Given the description of an element on the screen output the (x, y) to click on. 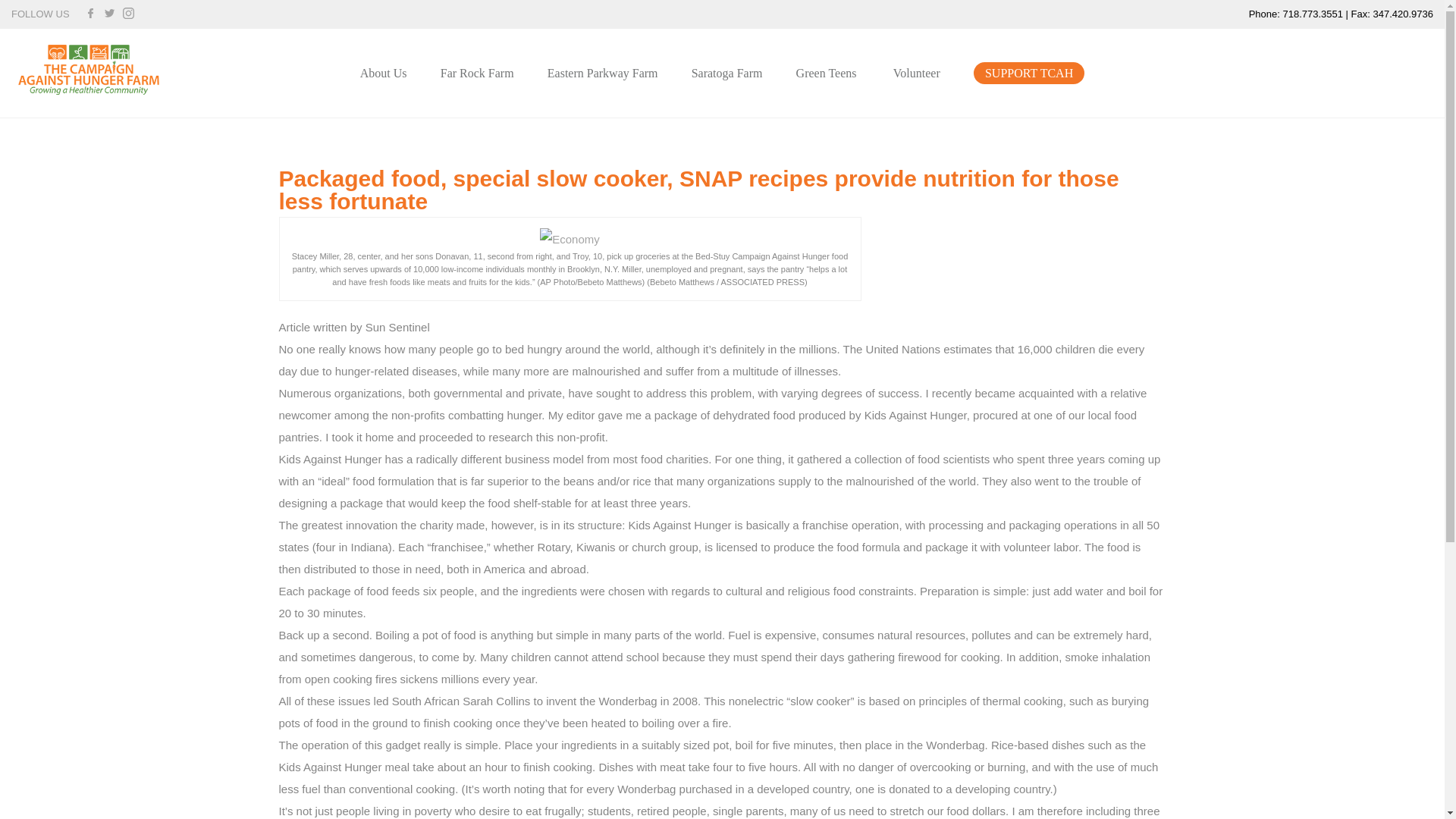
Far Rock Farm (477, 72)
Volunteer (916, 72)
Economy (569, 239)
Article written by Sun Sentinel (354, 327)
Search (890, 409)
Saratoga Farm (726, 72)
SUPPORT TCAH (1029, 72)
Green Teens (826, 72)
Eastern Parkway Farm (602, 72)
FOLLOW US (40, 13)
About Us (383, 72)
